Given the description of an element on the screen output the (x, y) to click on. 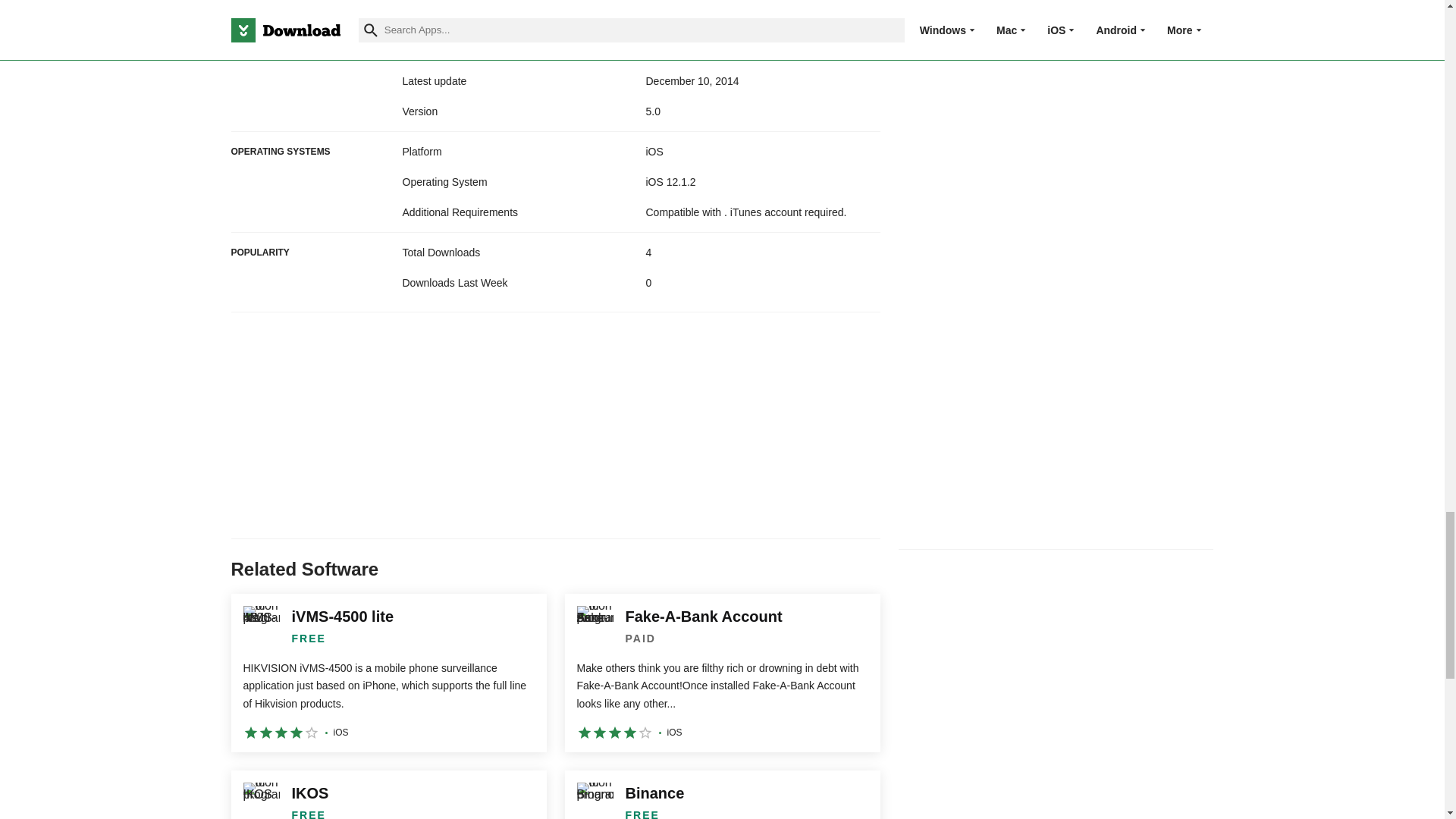
iVMS-4500 lite (388, 672)
Binance (721, 794)
IKOS (388, 794)
Fake-A-Bank Account (721, 672)
